Given the description of an element on the screen output the (x, y) to click on. 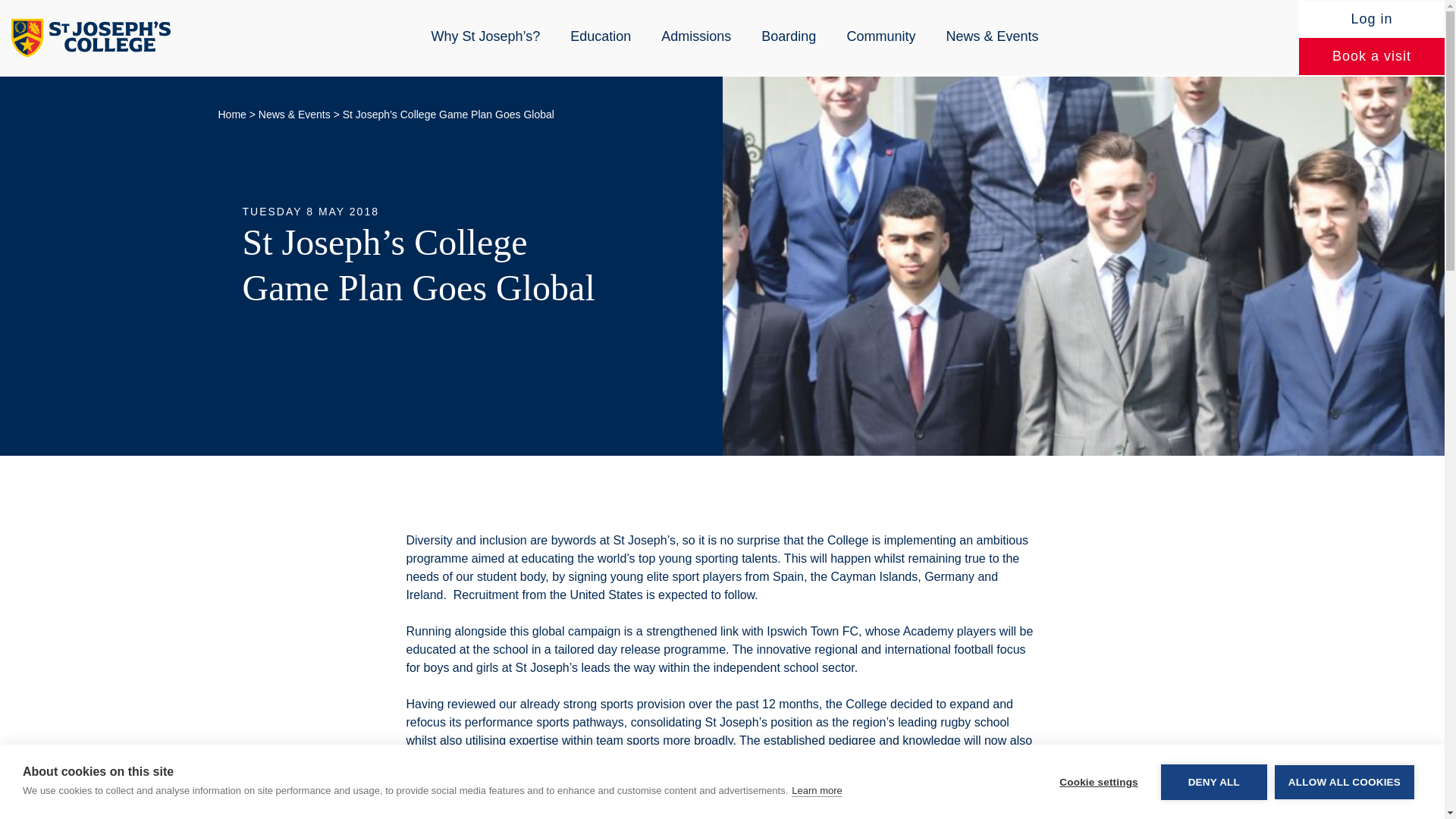
Cookie settings (1098, 811)
ALLOW ALL COOKIES (1344, 796)
DENY ALL (1213, 803)
Community (880, 36)
Boarding (788, 36)
Education (600, 36)
Admissions (695, 36)
